Given the description of an element on the screen output the (x, y) to click on. 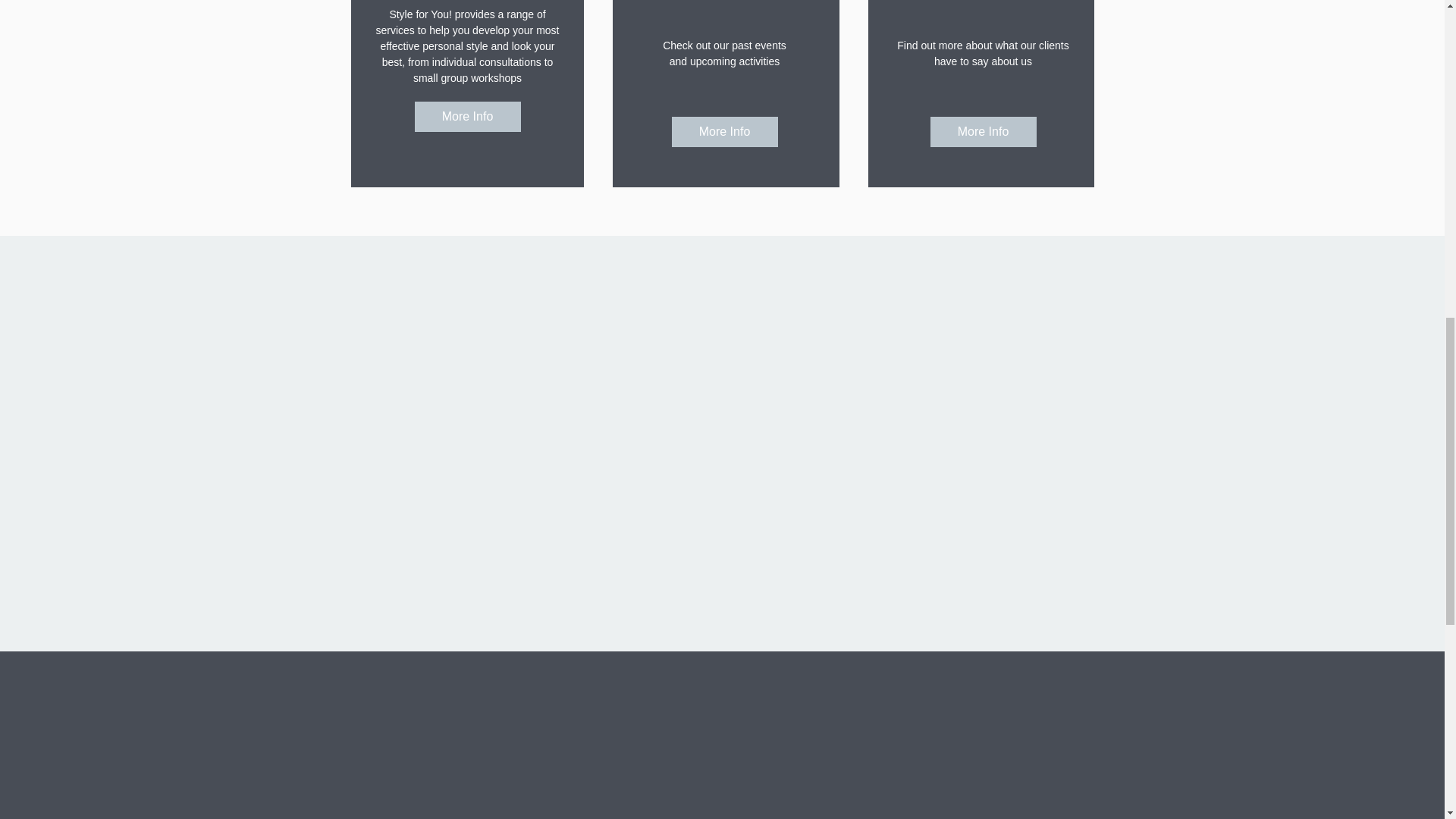
More Info (724, 132)
More Info (466, 116)
More Info (982, 132)
